Given the description of an element on the screen output the (x, y) to click on. 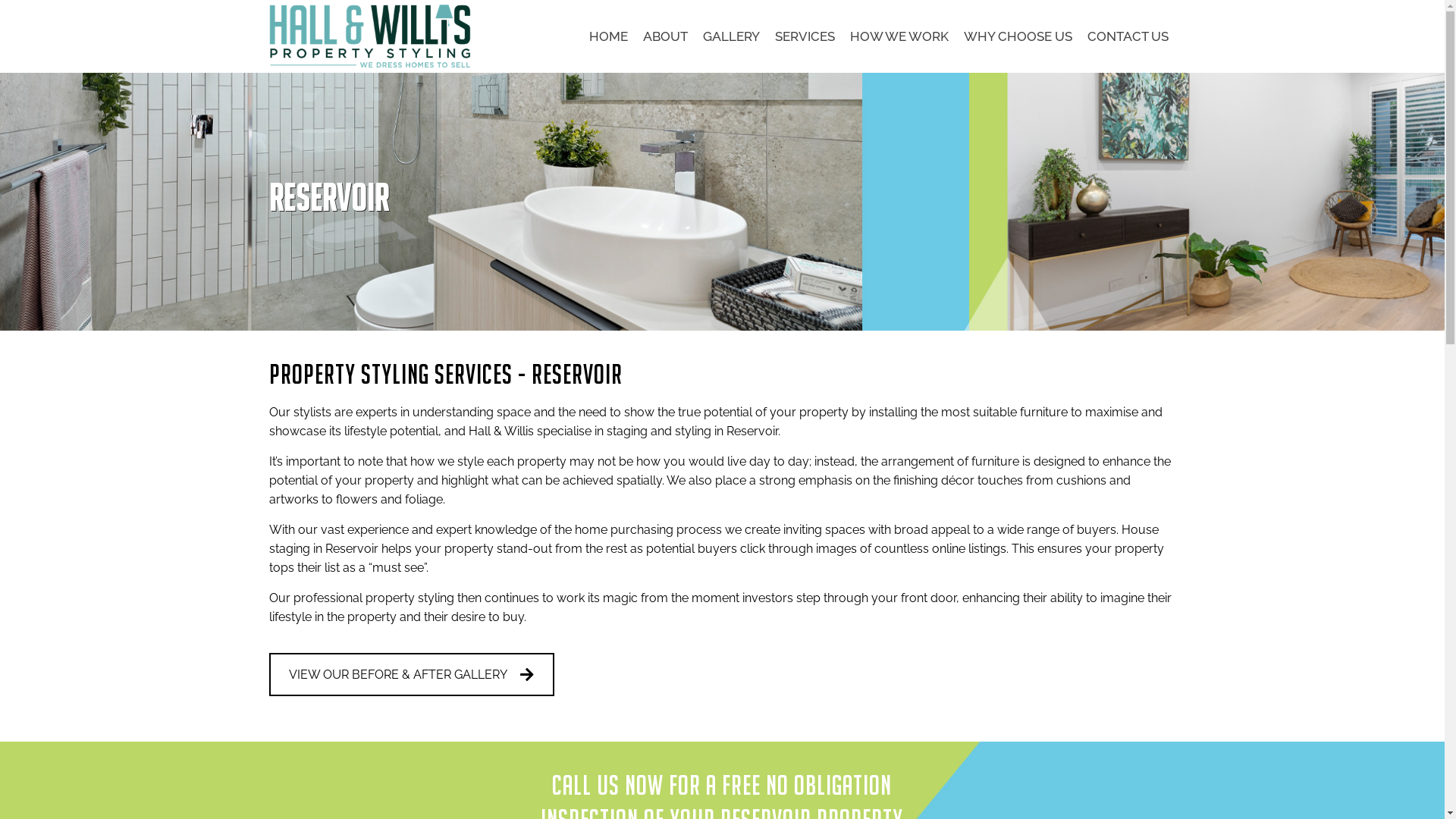
SERVICES Element type: text (804, 36)
CONTACT US Element type: text (1127, 36)
HOME Element type: text (607, 36)
VIEW OUR BEFORE & AFTER GALLERY Element type: text (411, 674)
Hall & Willis Element type: hover (371, 36)
WHY CHOOSE US Element type: text (1017, 36)
HOW WE WORK Element type: text (898, 36)
ABOUT Element type: text (665, 36)
GALLERY Element type: text (730, 36)
